Given the description of an element on the screen output the (x, y) to click on. 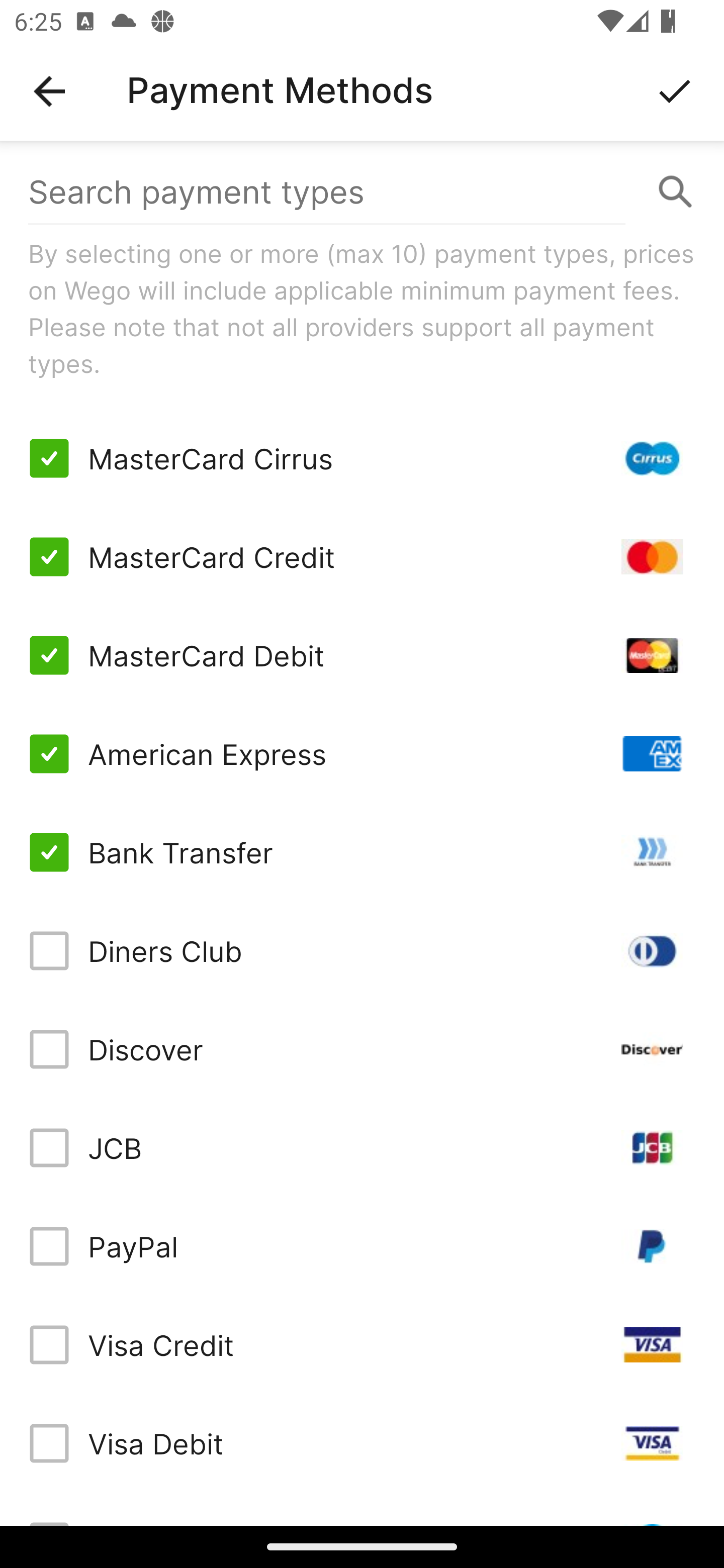
Search payment types  (361, 191)
MasterCard Cirrus (362, 458)
MasterCard Credit (362, 557)
MasterCard Debit (362, 655)
American Express (362, 753)
Bank Transfer (362, 851)
Diners Club (362, 950)
Discover (362, 1049)
JCB (362, 1147)
PayPal (362, 1245)
Visa Credit (362, 1344)
Visa Debit (362, 1442)
